Given the description of an element on the screen output the (x, y) to click on. 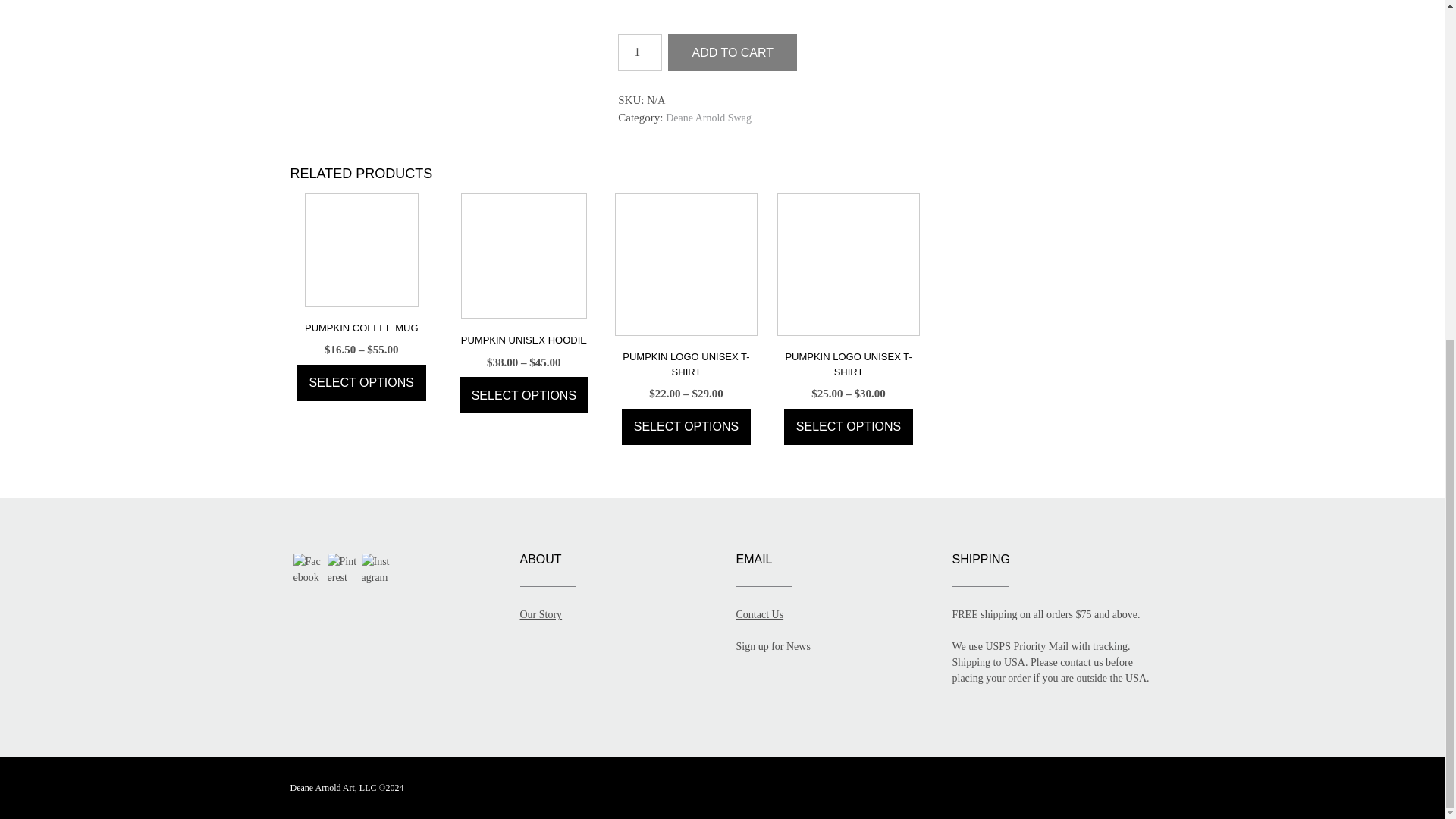
SELECT OPTIONS (524, 394)
SELECT OPTIONS (361, 382)
Instagram (376, 569)
Facebook (307, 569)
Deane Arnold Swag (708, 117)
SELECT OPTIONS (686, 426)
SELECT OPTIONS (848, 426)
Pinterest (342, 569)
ADD TO CART (732, 52)
1 (639, 52)
